Given the description of an element on the screen output the (x, y) to click on. 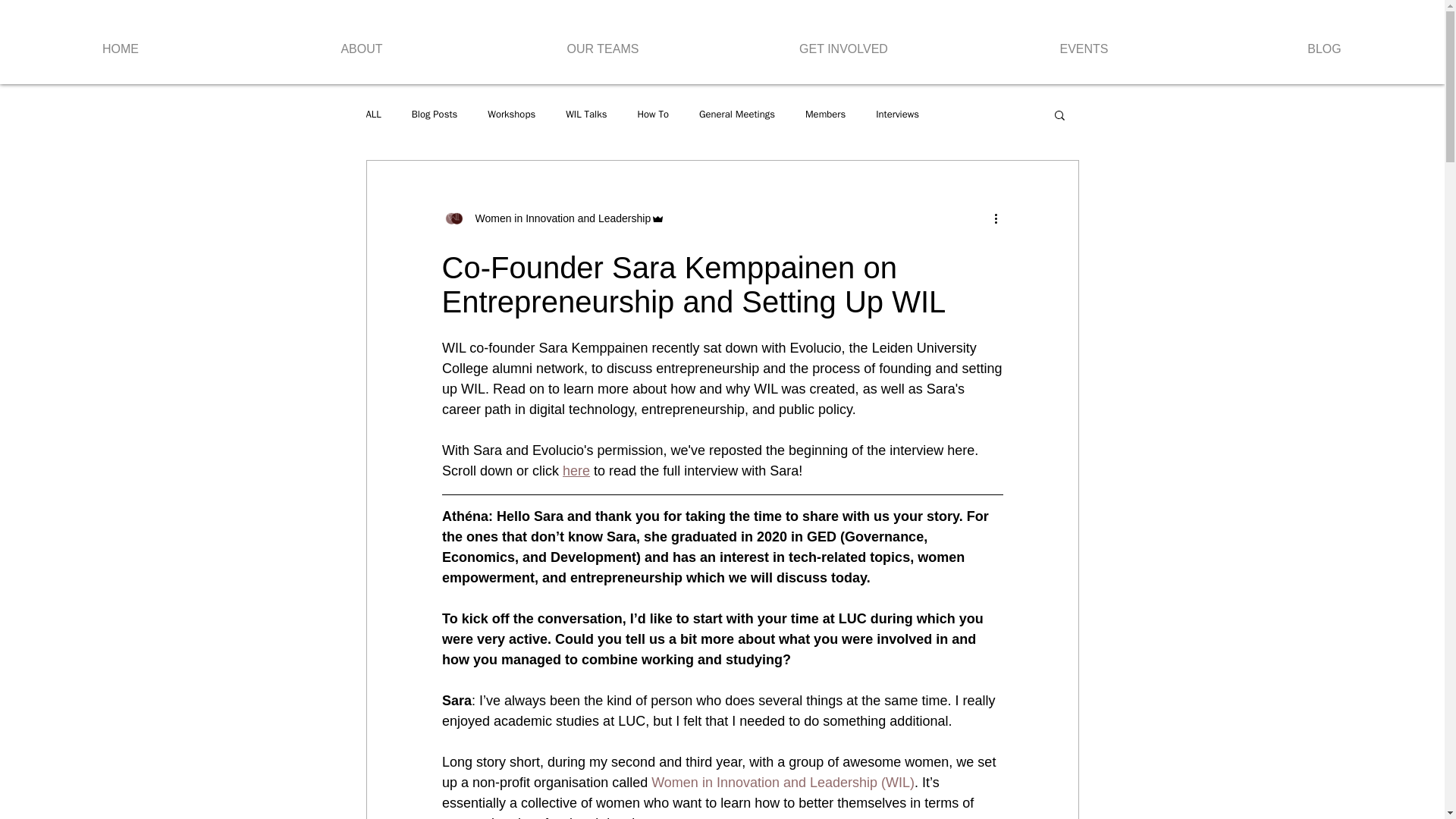
Women in Innovation and Leadership (553, 218)
GET INVOLVED (843, 41)
Women in Innovation and Leadership (557, 218)
Workshops (511, 114)
How To (652, 114)
ABOUT (361, 41)
General Meetings (736, 114)
here (575, 470)
Interviews (897, 114)
OUR TEAMS (602, 41)
ALL (372, 114)
Members (825, 114)
WIL Talks (586, 114)
EVENTS (1083, 41)
HOME (120, 41)
